Given the description of an element on the screen output the (x, y) to click on. 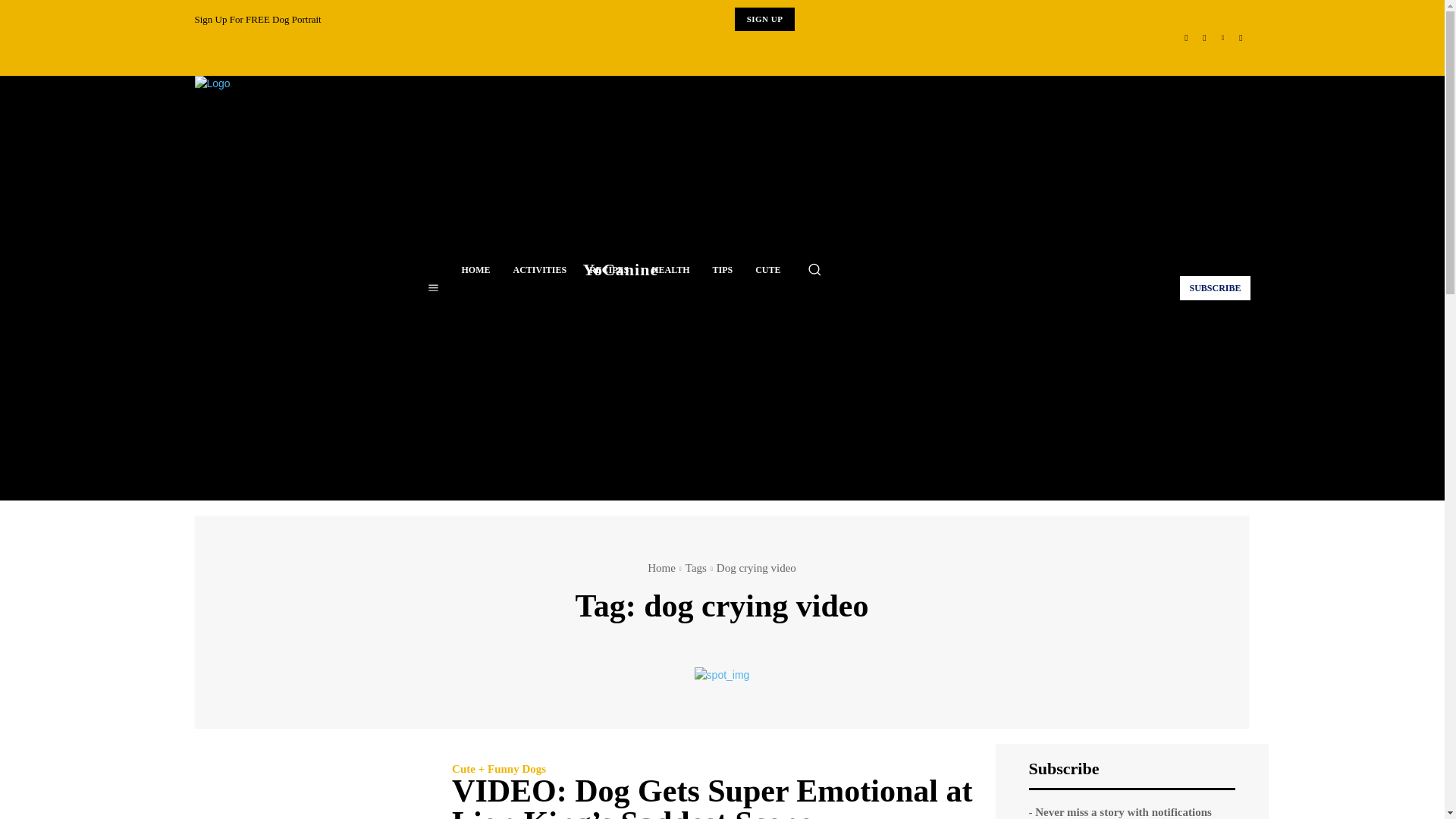
Sign Up (764, 19)
Pinterest (1221, 37)
CUTE (768, 269)
Instagram (1203, 37)
HEALTH (670, 269)
Subscribe (1214, 287)
Youtube (1240, 37)
HOME (475, 269)
SUBSCRIBE (1214, 287)
ACTIVITIES (540, 269)
SIGN UP (764, 19)
RECIPES (609, 269)
Facebook (1185, 37)
TIPS (722, 269)
